Given the description of an element on the screen output the (x, y) to click on. 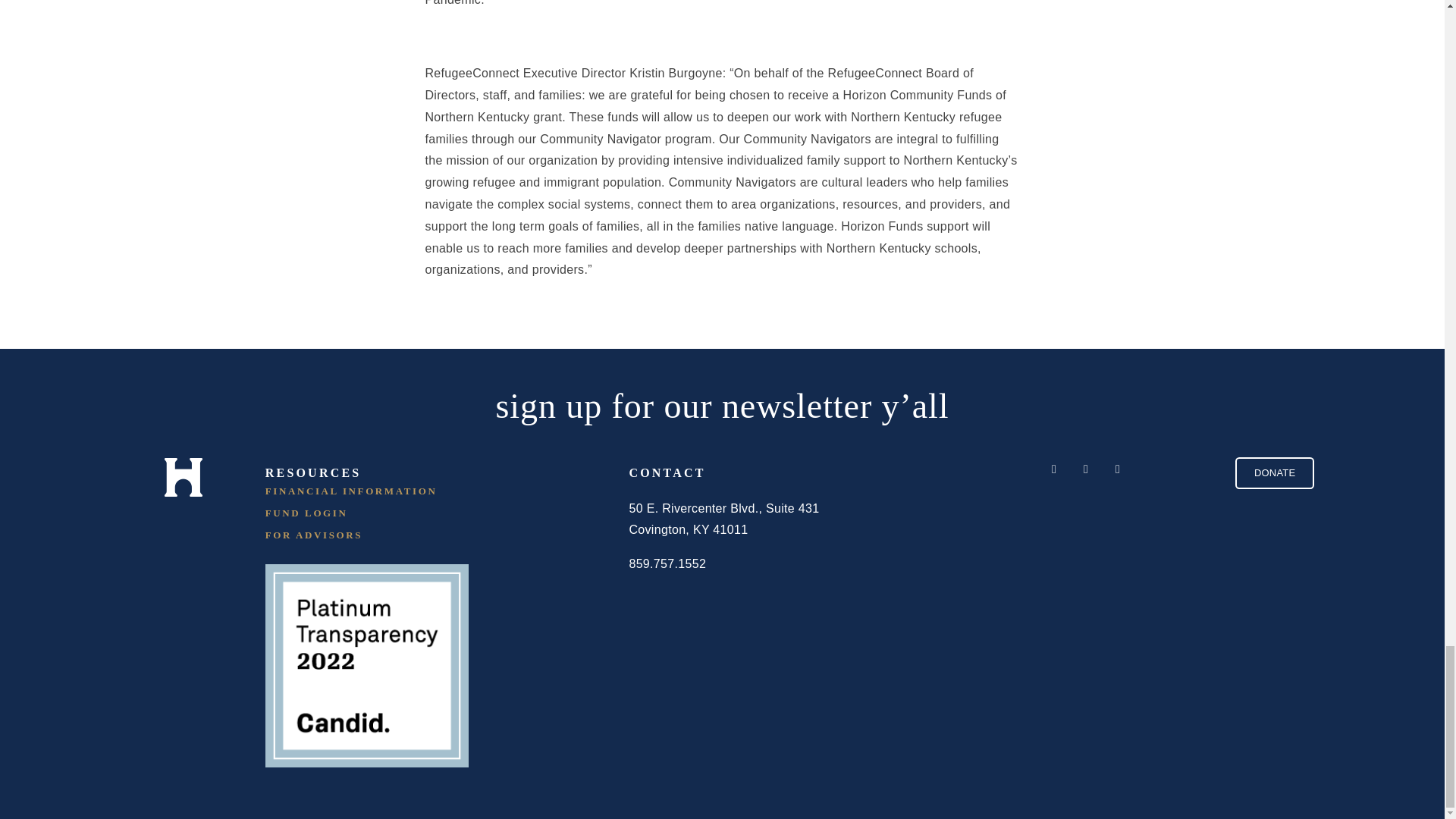
FOR ADVISORS (418, 534)
DONATE (1274, 472)
Facebook (1053, 469)
FINANCIAL INFORMATION (418, 491)
X (1085, 469)
FUND LOGIN (418, 512)
Instagram (1117, 469)
